Given the description of an element on the screen output the (x, y) to click on. 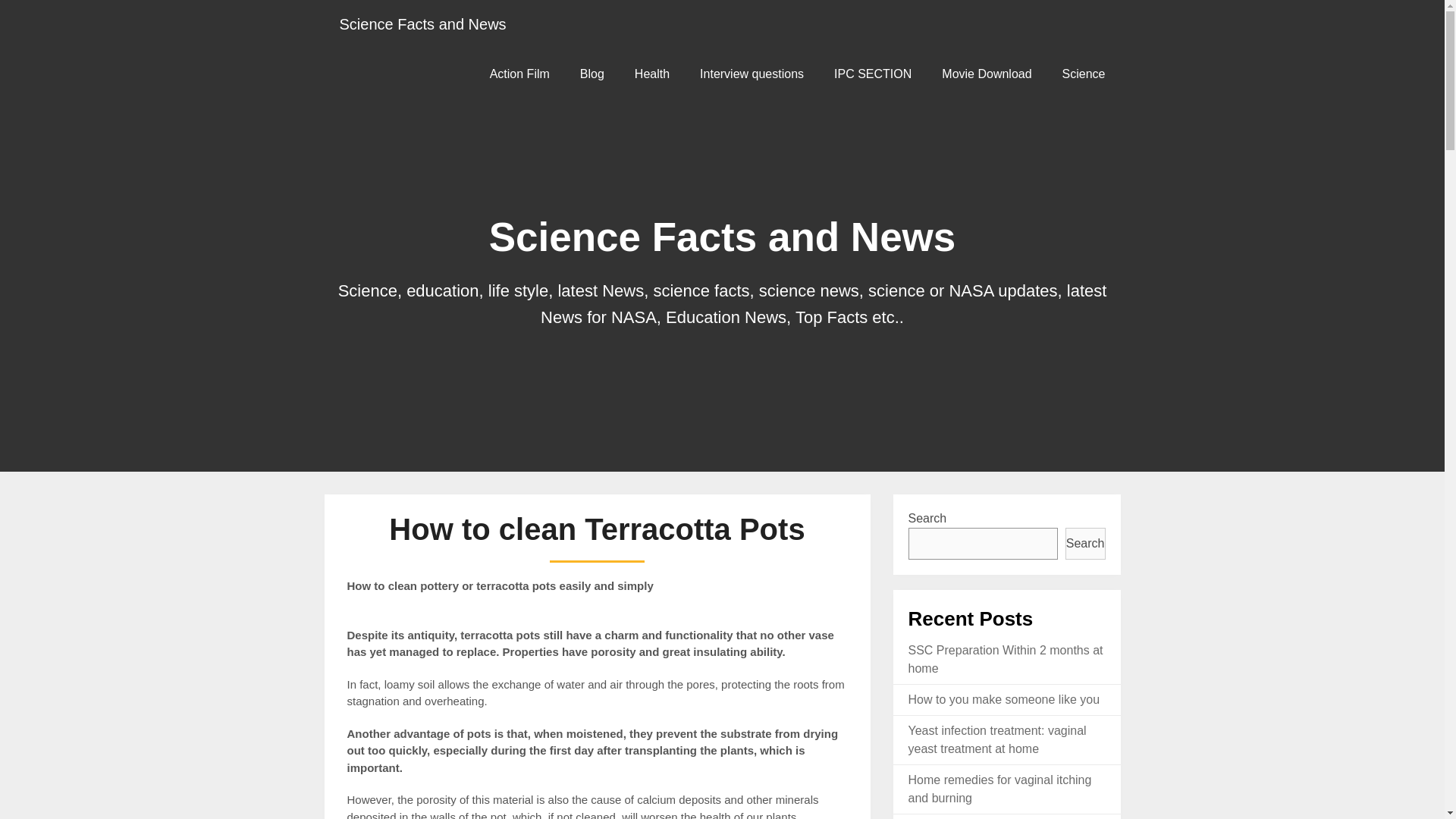
SSC Preparation Within 2 months at home (1005, 658)
How to you make someone like you (1004, 698)
Interview questions (751, 73)
Action Film (519, 73)
Science Facts and News (422, 24)
Health (652, 73)
Search (1085, 543)
IPC SECTION (872, 73)
Movie Download (986, 73)
Blog (592, 73)
